Given the description of an element on the screen output the (x, y) to click on. 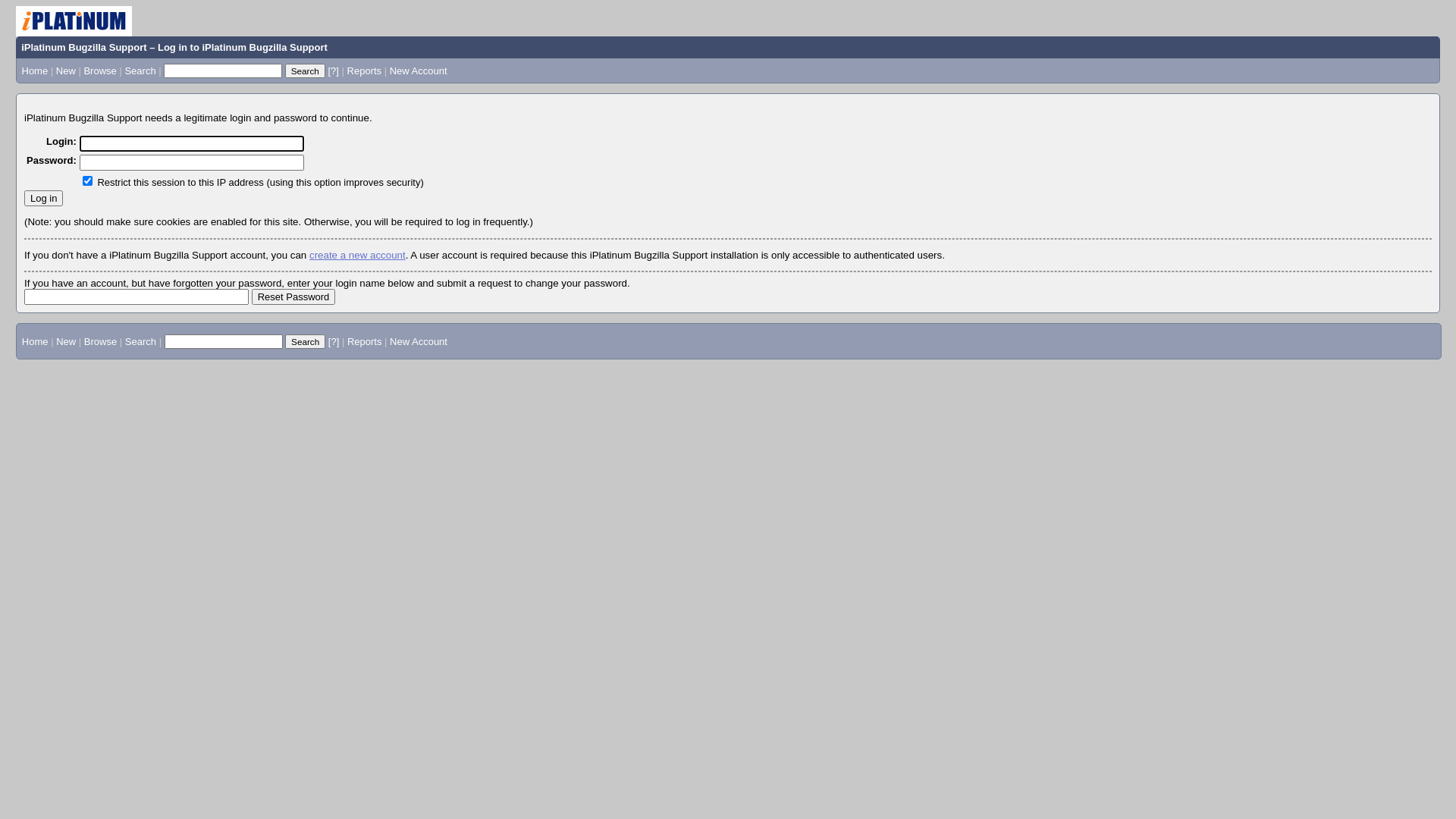
Browse Element type: text (99, 70)
Log in Element type: text (43, 198)
Search Element type: text (139, 70)
Search Element type: text (140, 341)
Reports Element type: text (364, 341)
[?] Element type: text (333, 341)
[?] Element type: text (332, 70)
New Account Element type: text (418, 341)
Quick Search Element type: hover (223, 341)
New Account Element type: text (418, 70)
Quick Search Element type: hover (222, 70)
Search Element type: text (305, 70)
Reports Element type: text (364, 70)
New Element type: text (65, 341)
New Element type: text (65, 70)
Search Element type: text (305, 341)
create a new account Element type: text (357, 254)
Home Element type: text (34, 341)
Home Element type: text (34, 70)
Reset Password Element type: text (293, 296)
Browse Element type: text (100, 341)
